Given the description of an element on the screen output the (x, y) to click on. 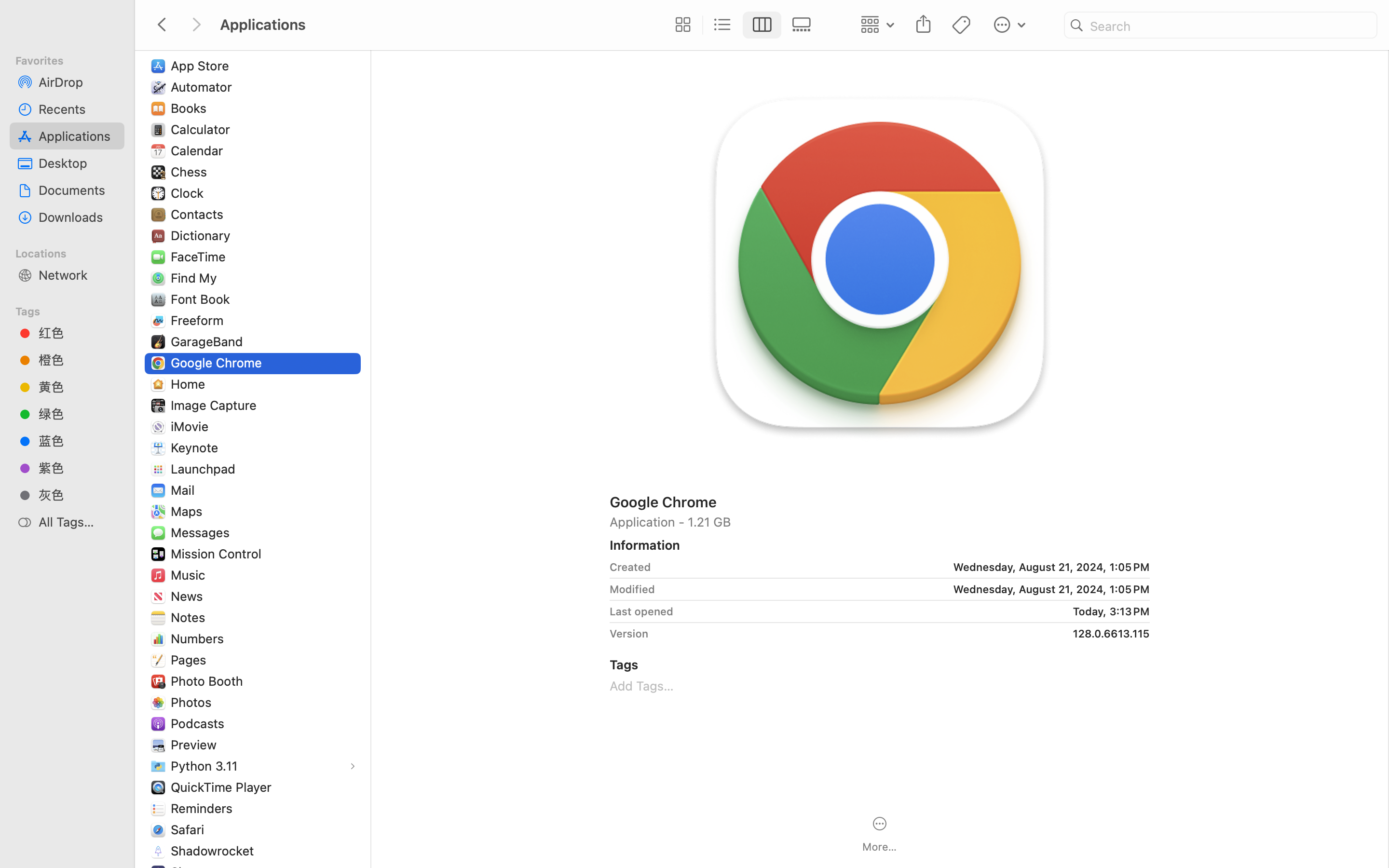
Font Book Element type: AXTextField (202, 298)
Messages Element type: AXTextField (201, 532)
Image Capture Element type: AXTextField (215, 404)
Today, 3:13 PM Element type: AXStaticText (914, 611)
Freeform Element type: AXTextField (198, 319)
